Given the description of an element on the screen output the (x, y) to click on. 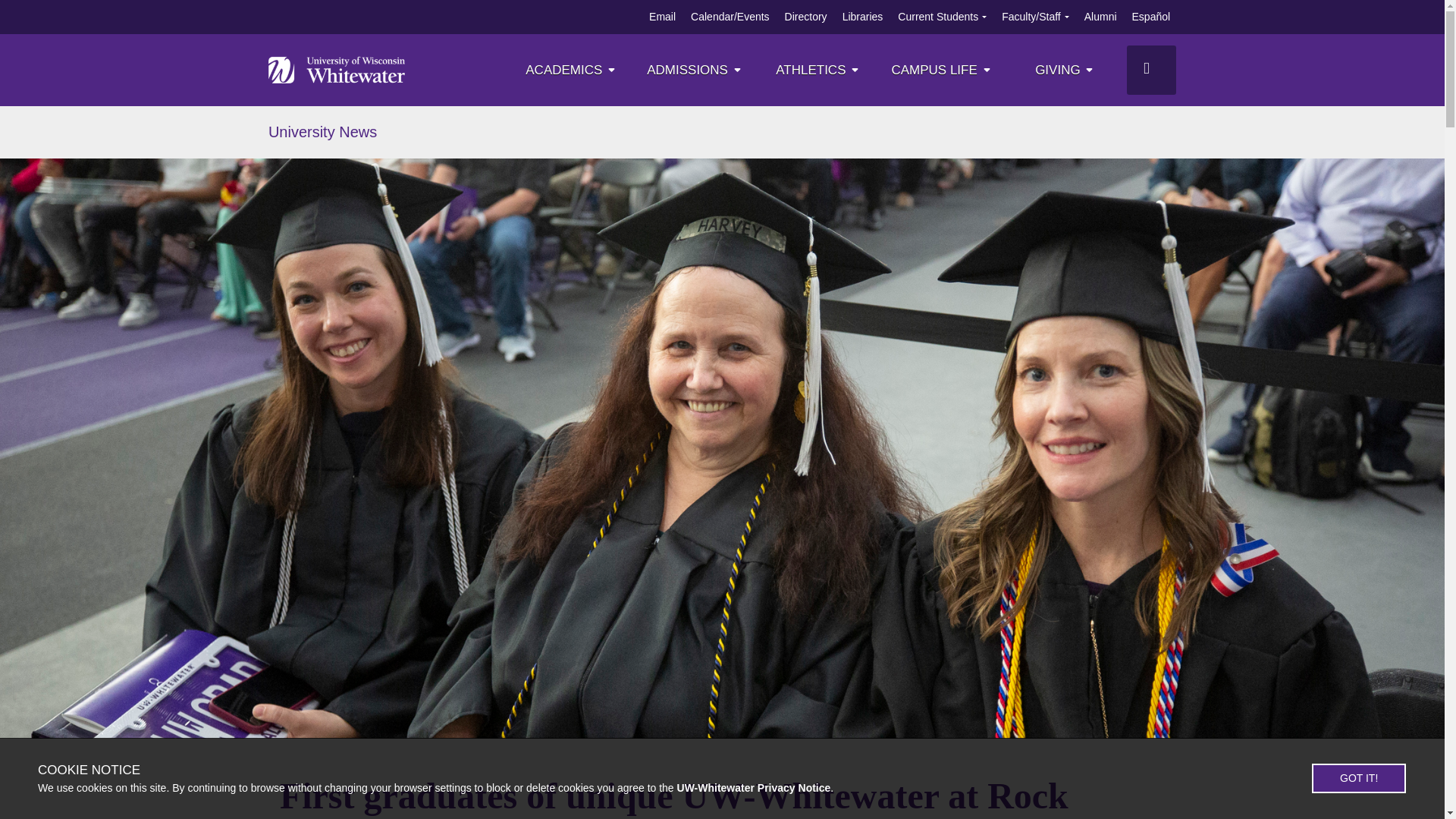
Current Students (938, 16)
Email (662, 16)
ACADEMICS (571, 70)
Libraries (863, 16)
Directory (805, 16)
Alumni (1100, 16)
